Given the description of an element on the screen output the (x, y) to click on. 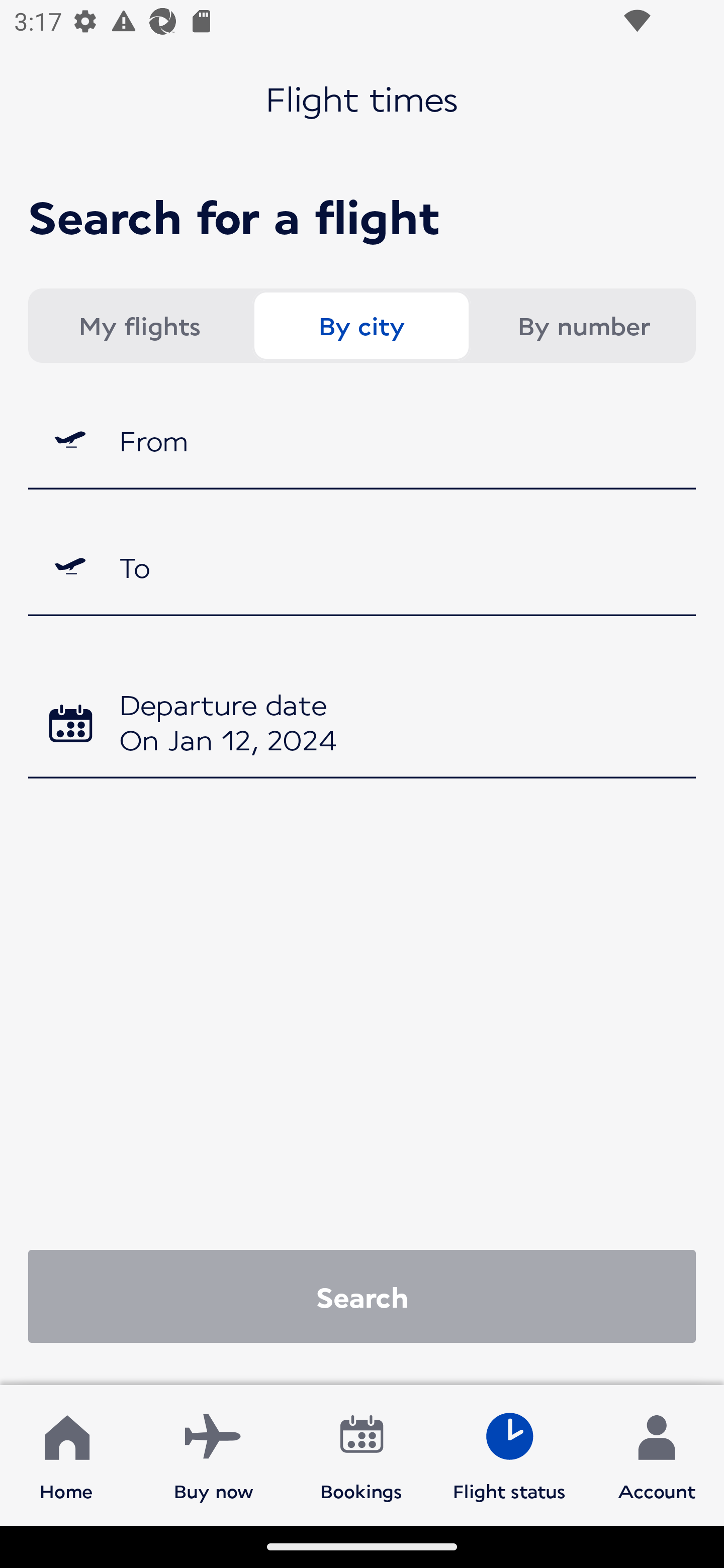
My flights (139, 325)
By city (361, 325)
By number (583, 325)
From (361, 439)
To (361, 566)
On Jan 12, 2024 Departure date (361, 724)
Search (361, 1295)
Home (66, 1454)
Buy now (213, 1454)
Bookings (361, 1454)
Account (657, 1454)
